Given the description of an element on the screen output the (x, y) to click on. 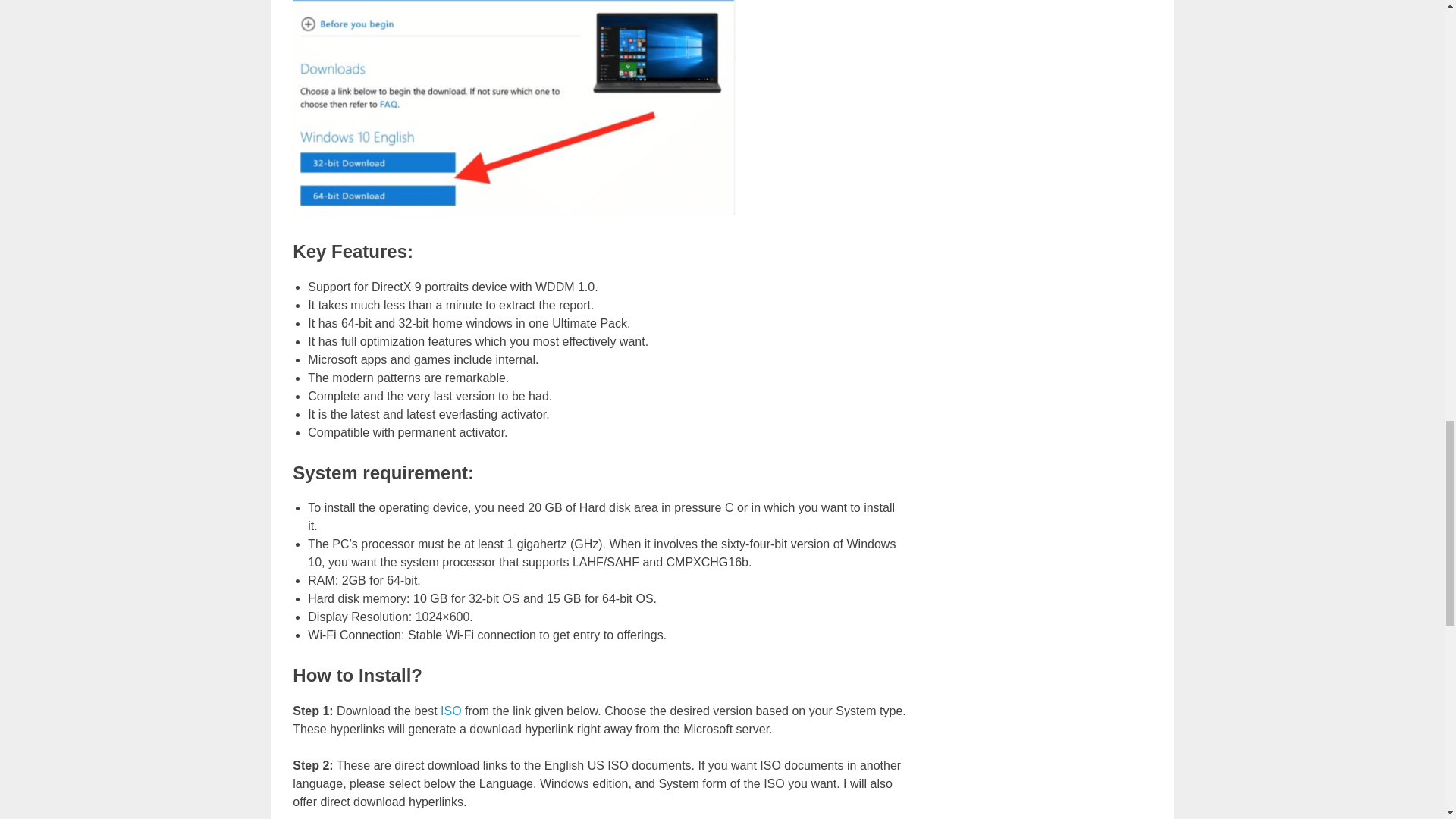
ISO (451, 710)
